Given the description of an element on the screen output the (x, y) to click on. 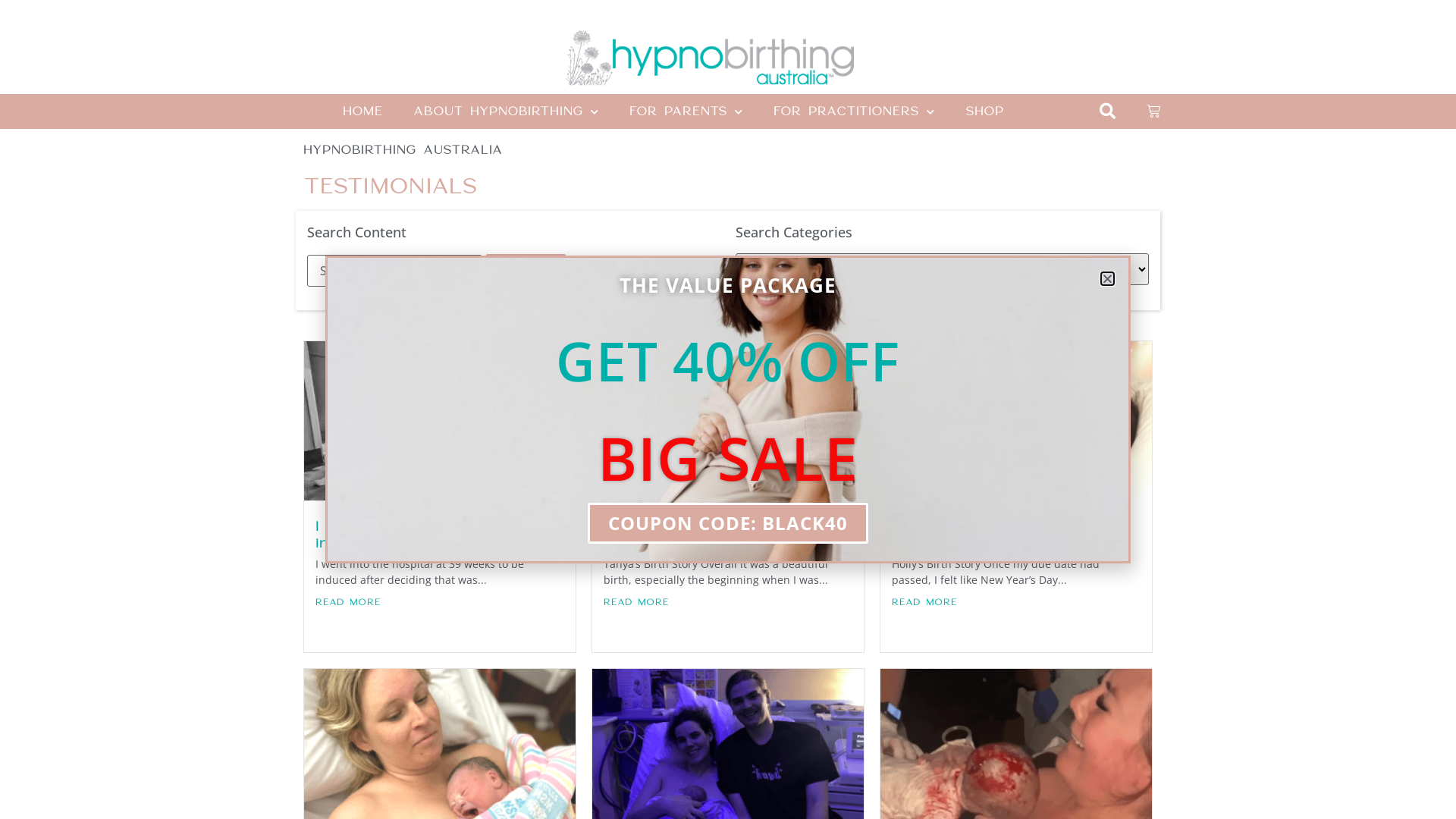
COUPON CODE: BLACK40 Element type: text (727, 522)
I brought my 9.9 pound baby into the world completely Element type: text (434, 535)
READ MORE Element type: text (439, 601)
READ MORE Element type: text (727, 601)
SHOP Element type: text (984, 111)
FOR PARENTS Element type: text (686, 111)
Search Element type: text (525, 270)
READ MORE Element type: text (1015, 601)
I feel so grateful that my birth was such a Element type: text (994, 535)
HOME Element type: text (362, 111)
ABOUT HYPNOBIRTHING Element type: text (506, 111)
FOR PRACTITIONERS Element type: text (854, 111)
